Given the description of an element on the screen output the (x, y) to click on. 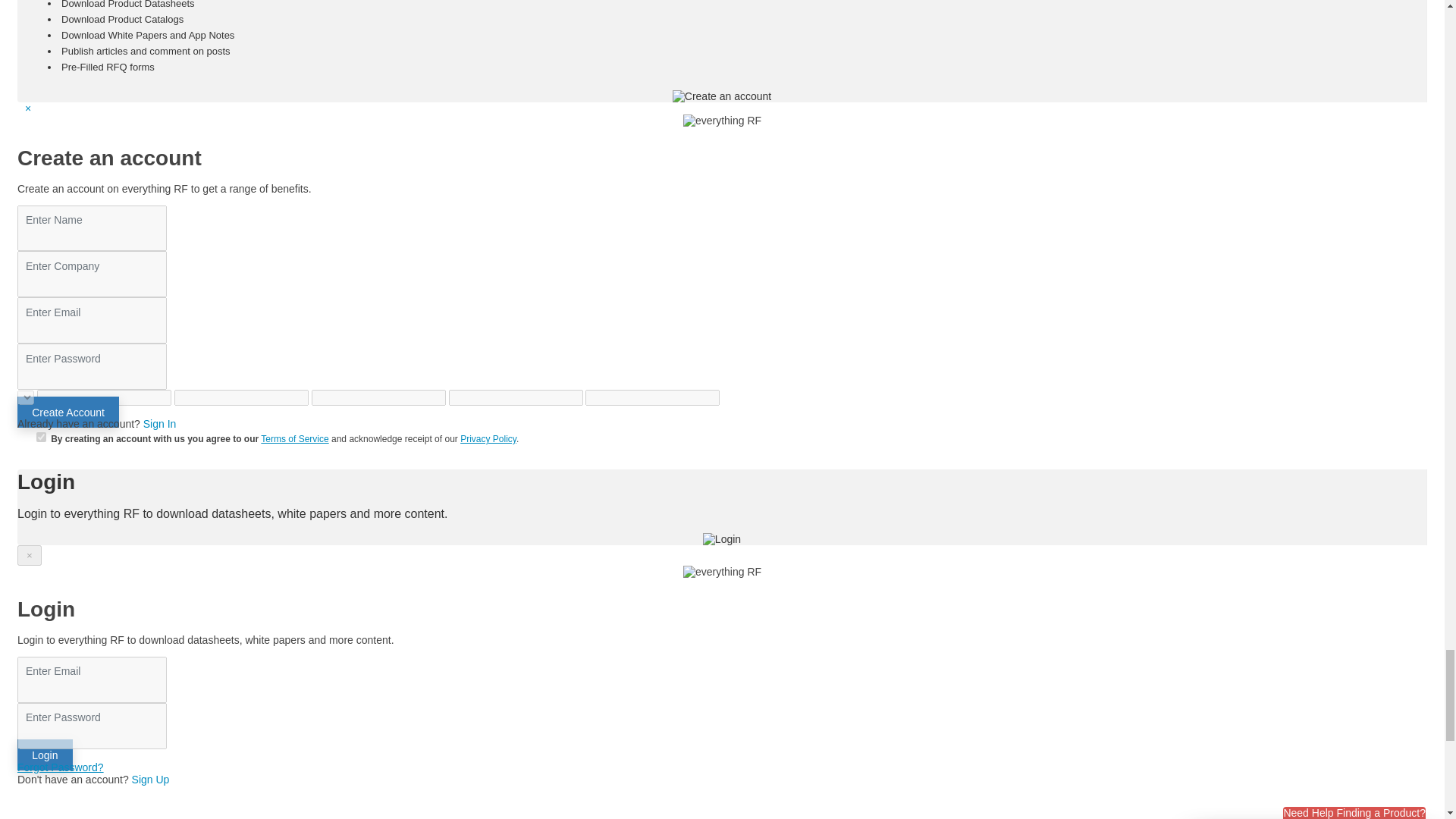
on (41, 437)
